Given the description of an element on the screen output the (x, y) to click on. 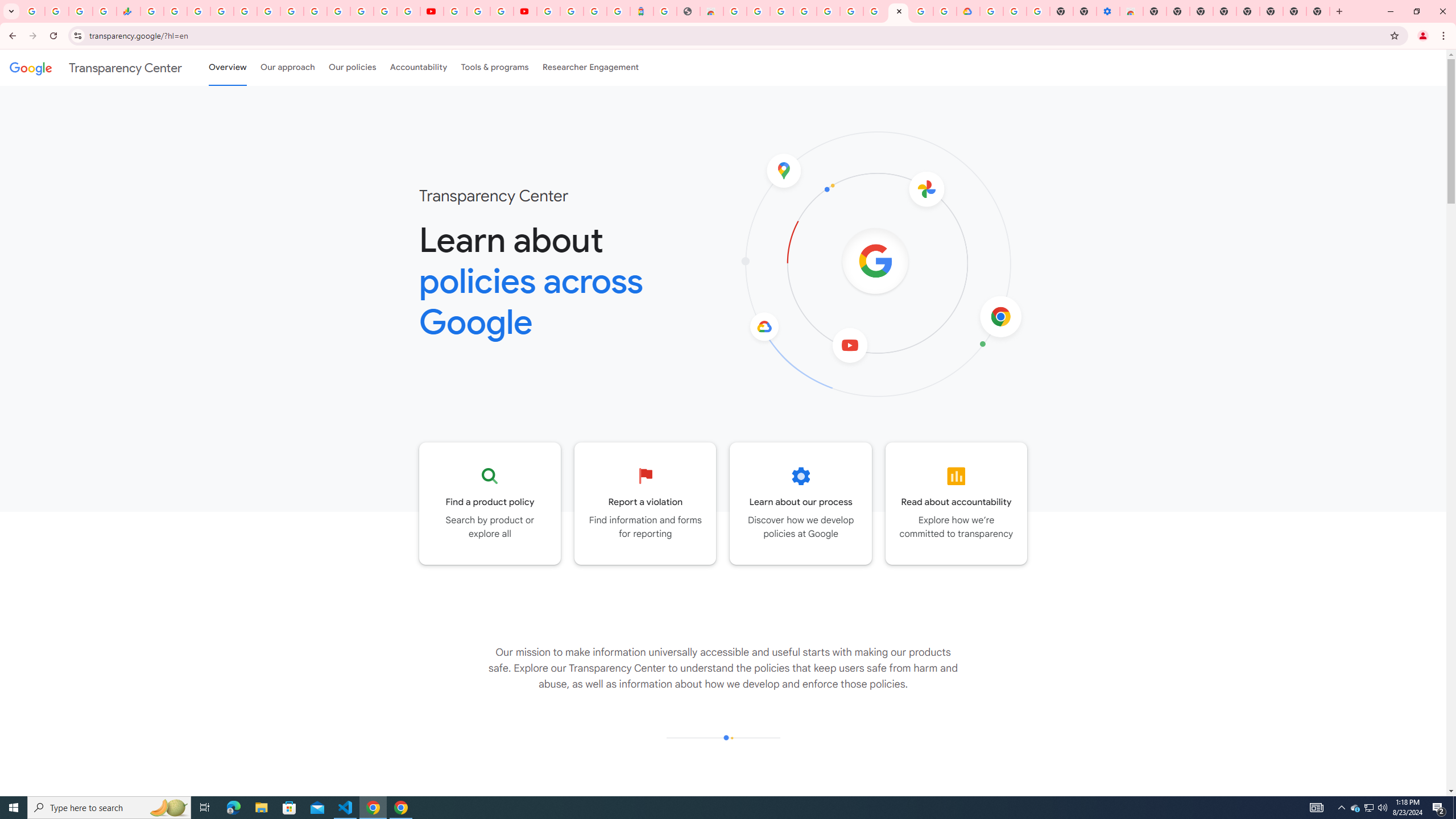
You (1422, 35)
Researcher Engagement (590, 67)
Accountability (418, 67)
Settings - Accessibility (1108, 11)
Our policies (351, 67)
Address and search bar (735, 35)
Back (10, 35)
Restore (1416, 11)
